Given the description of an element on the screen output the (x, y) to click on. 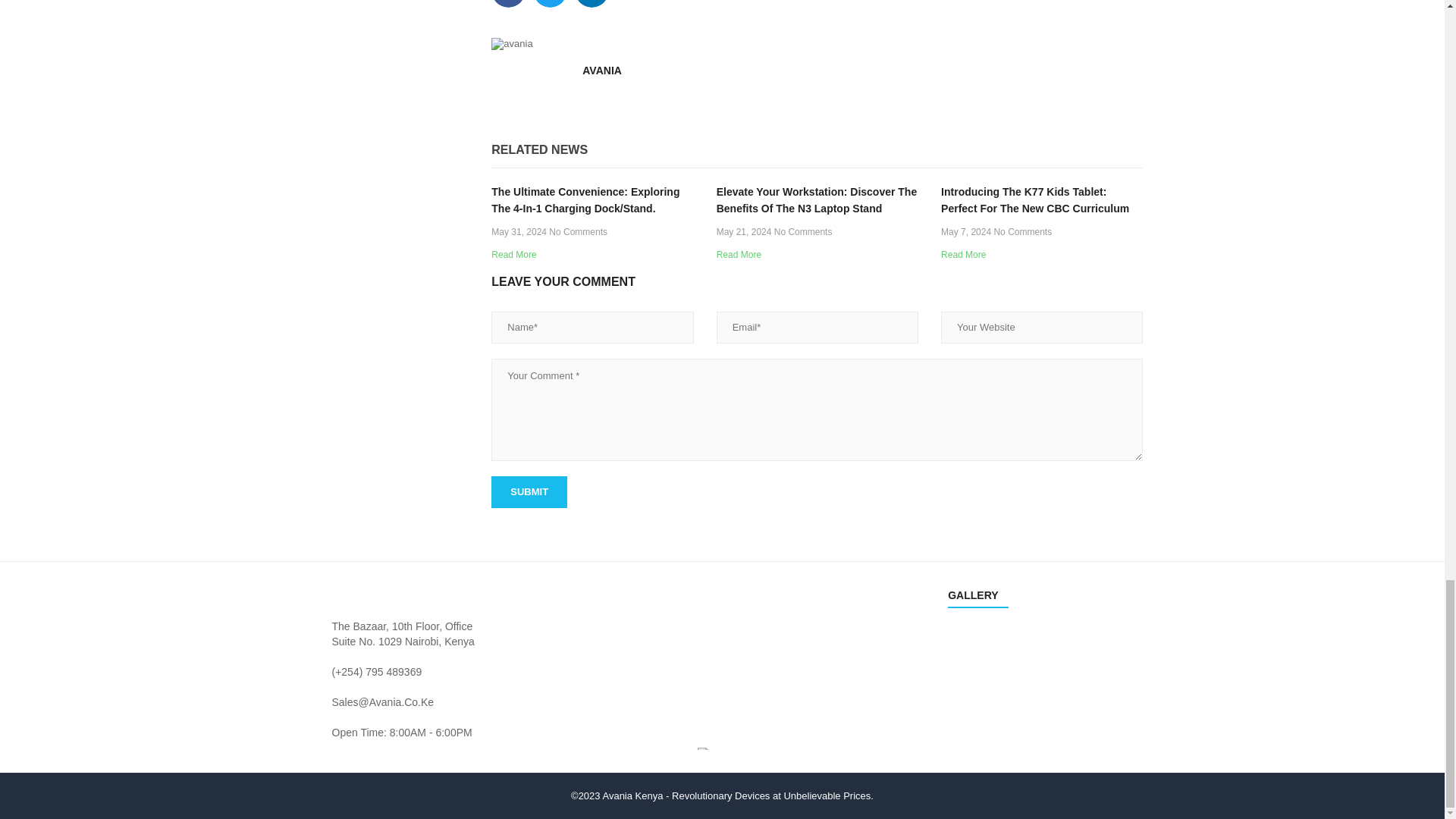
payment (722, 749)
